Given the description of an element on the screen output the (x, y) to click on. 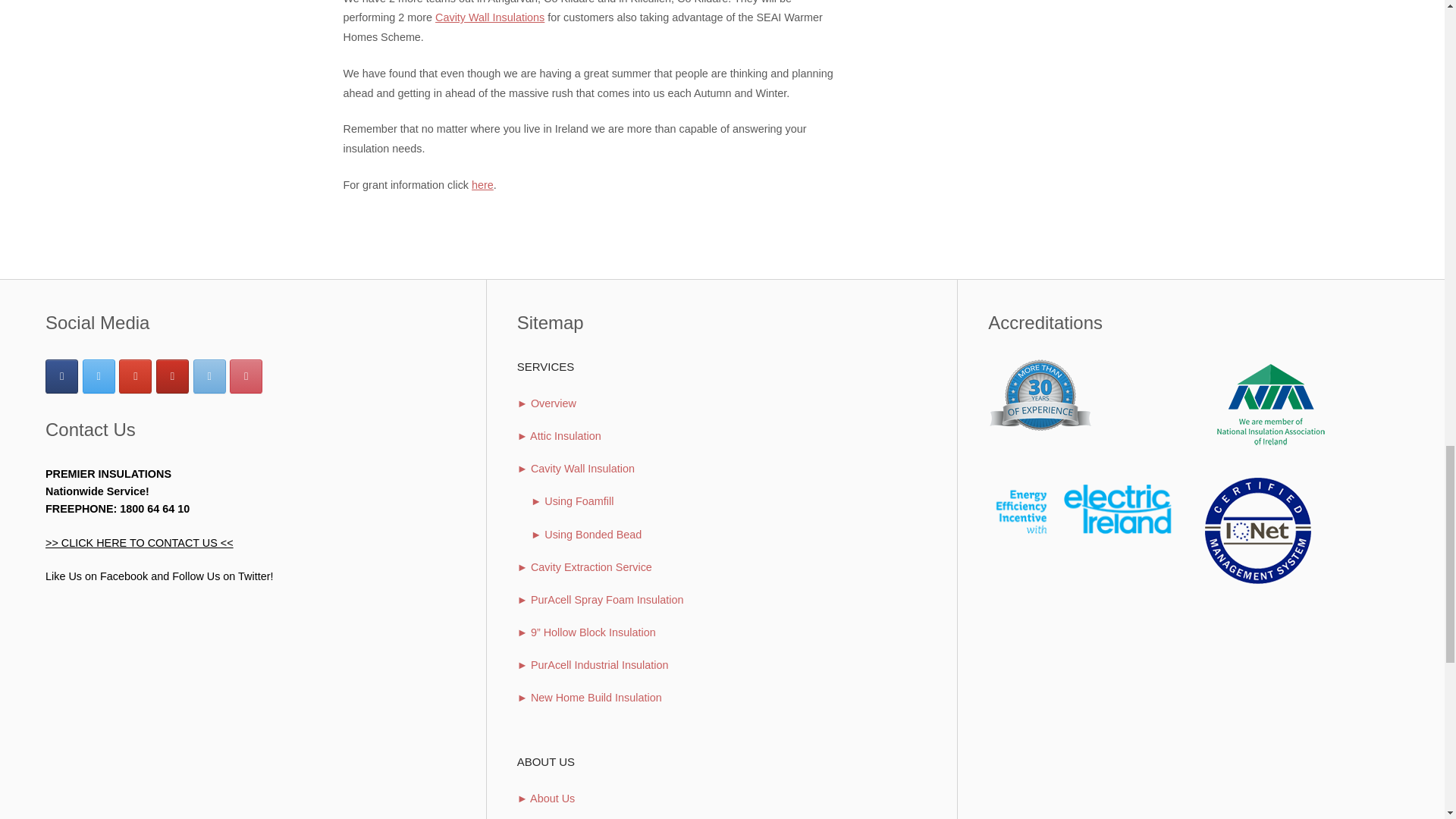
Premier Insulations on Youtube (172, 376)
Premier Insulations on Facebook (61, 376)
Cavity Wall Insulation (489, 17)
Premier Insulations on Pinterest (246, 376)
Premier Insulations on Google (135, 376)
Premier Insulations on Envelope (208, 376)
Insulation Grants and Who is Eligible (482, 184)
Premier Insulations on X Twitter (98, 376)
30 years experience logo (1041, 395)
